Given the description of an element on the screen output the (x, y) to click on. 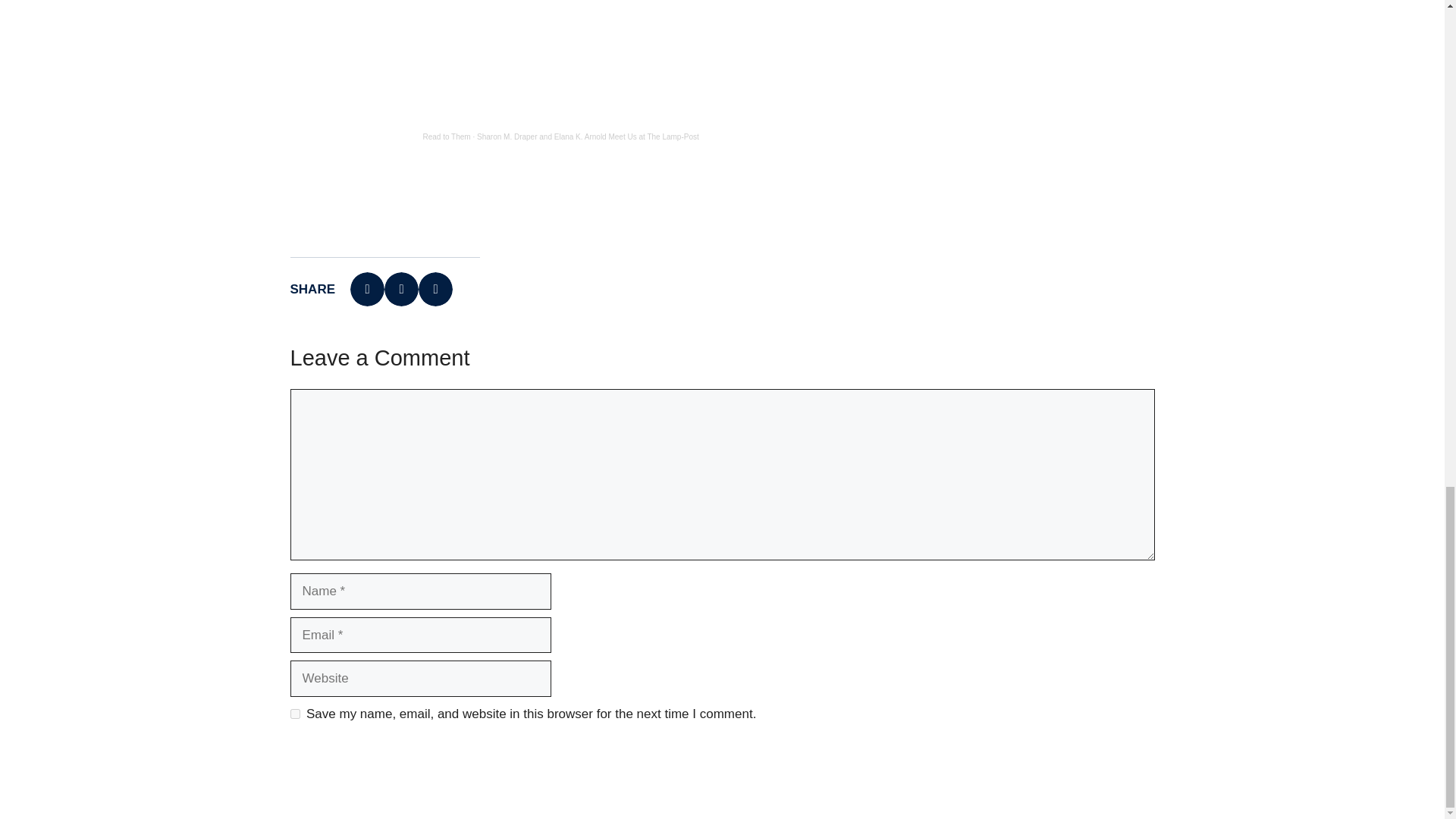
yes (294, 714)
Read to Them (446, 136)
